Given the description of an element on the screen output the (x, y) to click on. 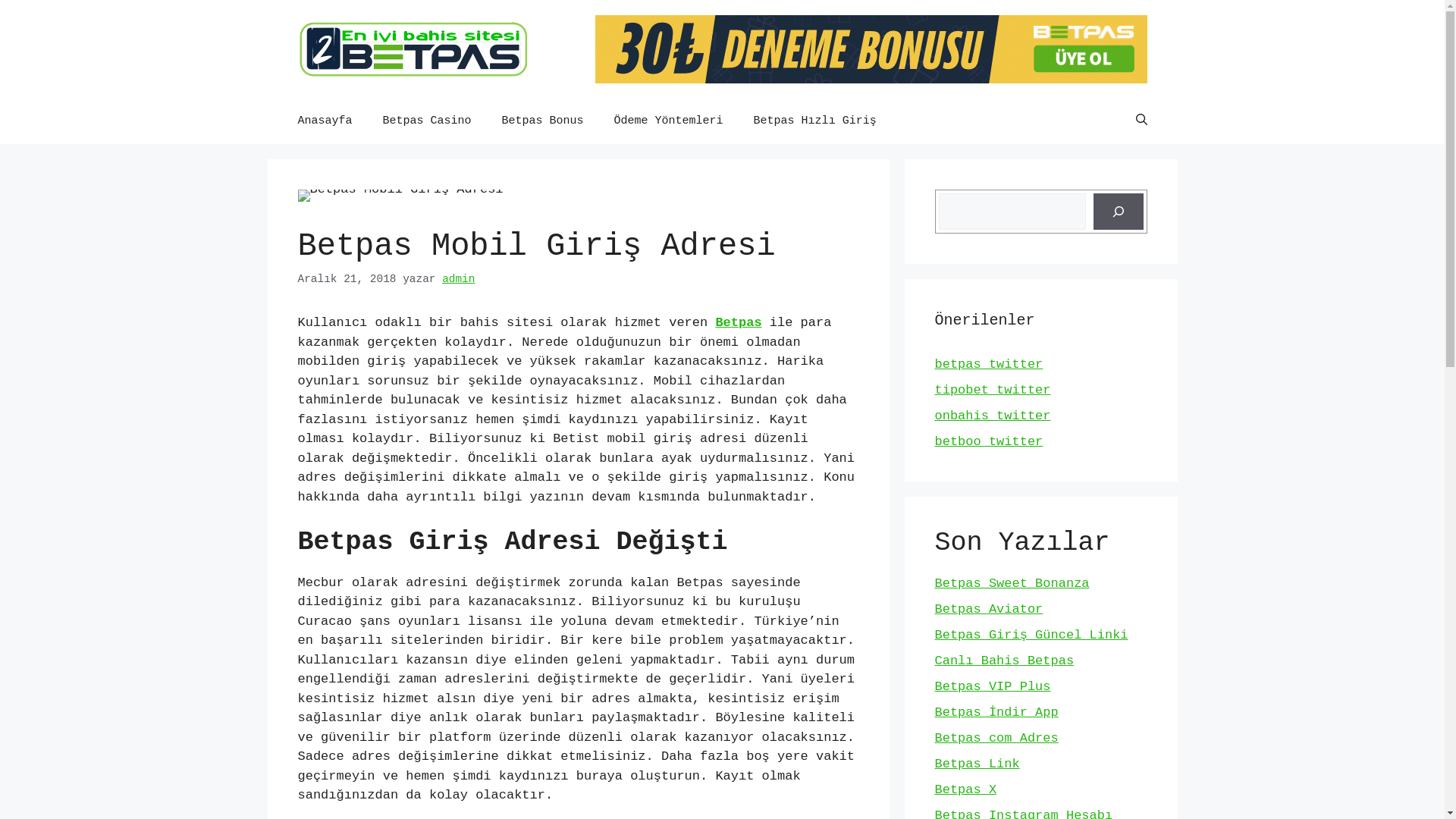
Betpas com Adres Element type: text (995, 738)
Betpas Bonus Element type: text (542, 121)
Betpas Casino Element type: text (426, 121)
betboo twitter Element type: text (988, 440)
tipobet twitter Element type: text (992, 389)
Betpas Link Element type: text (976, 763)
admin Element type: text (458, 279)
Anasayfa Element type: text (324, 121)
Betpas Element type: text (738, 322)
Betpas X Element type: text (965, 789)
Betpas Aviator Element type: text (988, 609)
Betpas VIP Plus Element type: text (992, 686)
Betpas Sweet Bonanza Element type: text (1011, 583)
betpas twitter Element type: text (988, 363)
onbahis twitter Element type: text (992, 414)
